Given the description of an element on the screen output the (x, y) to click on. 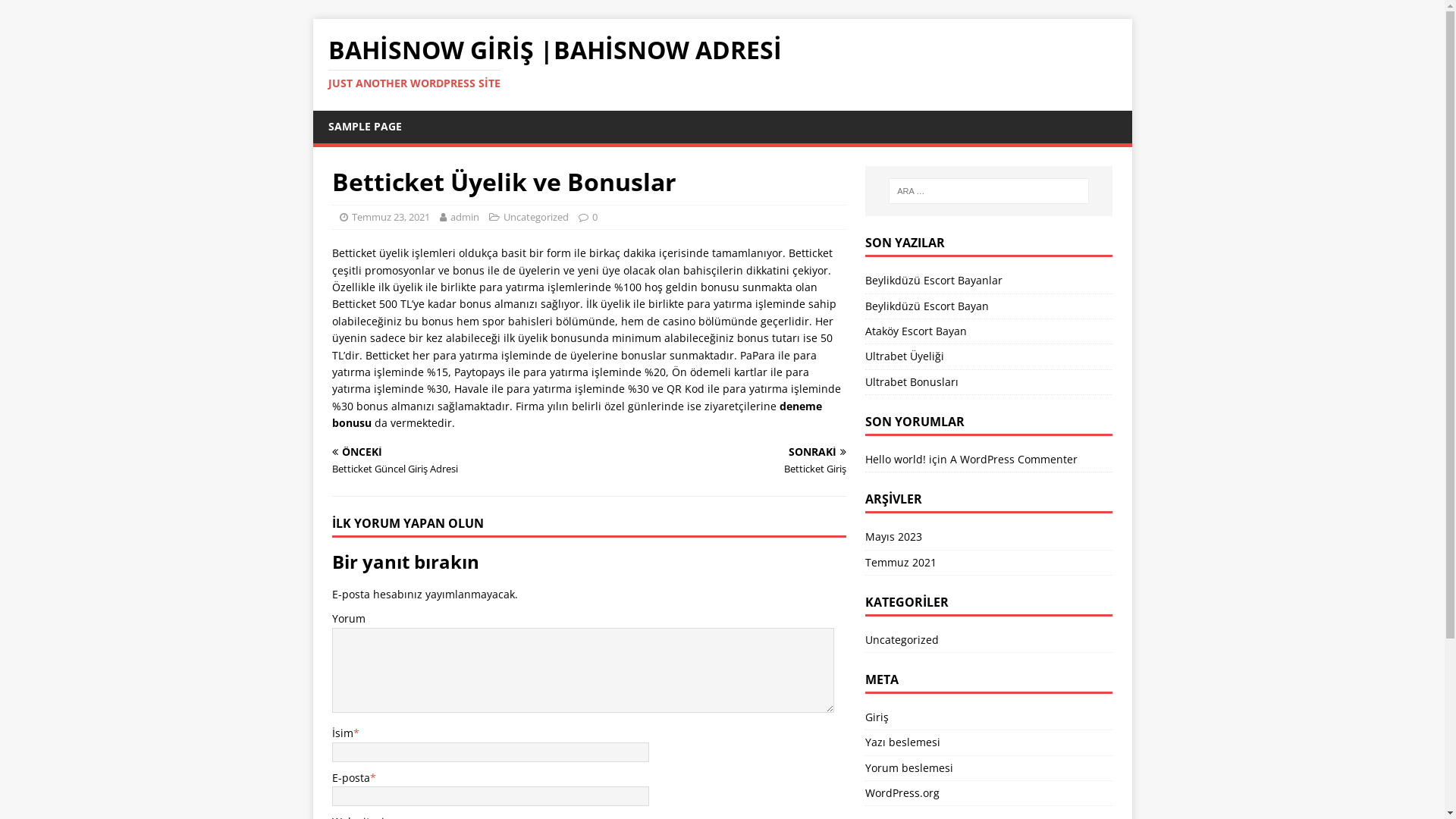
Yorum beslemesi Element type: text (988, 768)
SAMPLE PAGE Element type: text (364, 126)
Uncategorized Element type: text (988, 641)
Uncategorized Element type: text (535, 216)
Ara Element type: text (56, 11)
admin Element type: text (464, 216)
Hello world! Element type: text (895, 458)
Temmuz 2021 Element type: text (988, 562)
WordPress.org Element type: text (988, 793)
A WordPress Commenter Element type: text (1013, 458)
Temmuz 23, 2021 Element type: text (390, 216)
0 Element type: text (593, 216)
